Given the description of an element on the screen output the (x, y) to click on. 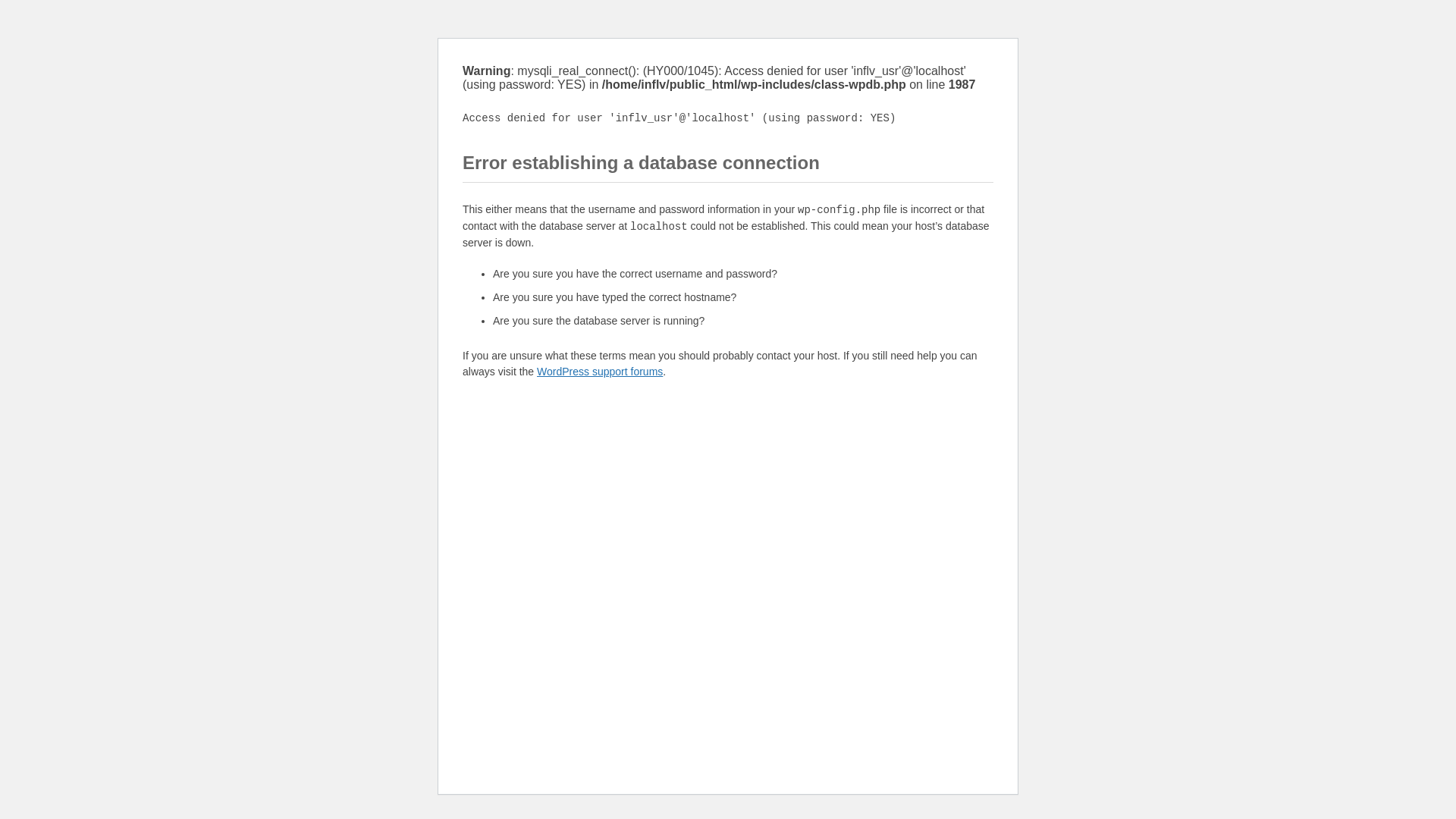
WordPress support forums (599, 371)
